Given the description of an element on the screen output the (x, y) to click on. 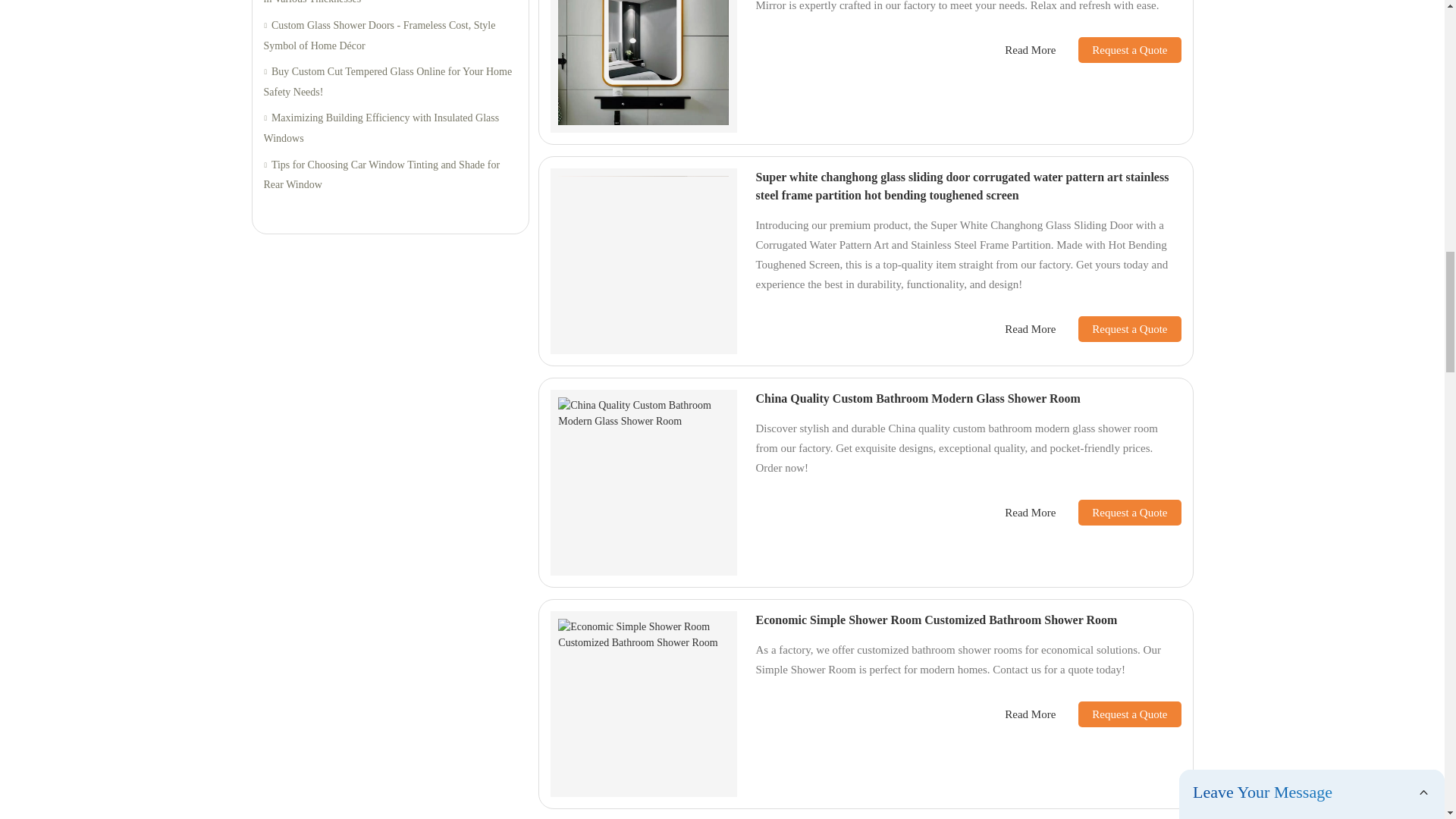
Maximizing Building Efficiency with Insulated Glass Windows (389, 128)
